Given the description of an element on the screen output the (x, y) to click on. 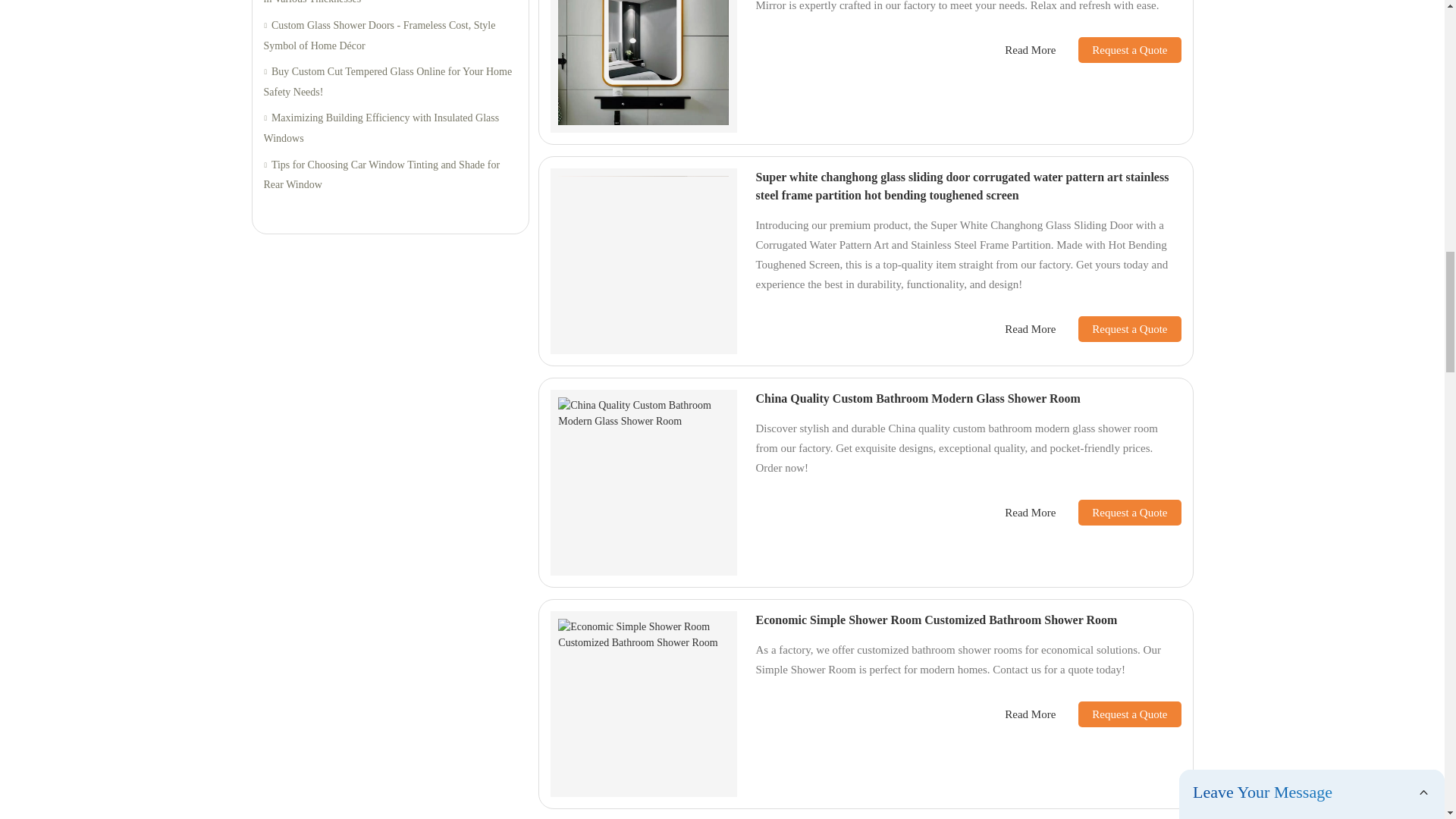
Maximizing Building Efficiency with Insulated Glass Windows (389, 128)
